Given the description of an element on the screen output the (x, y) to click on. 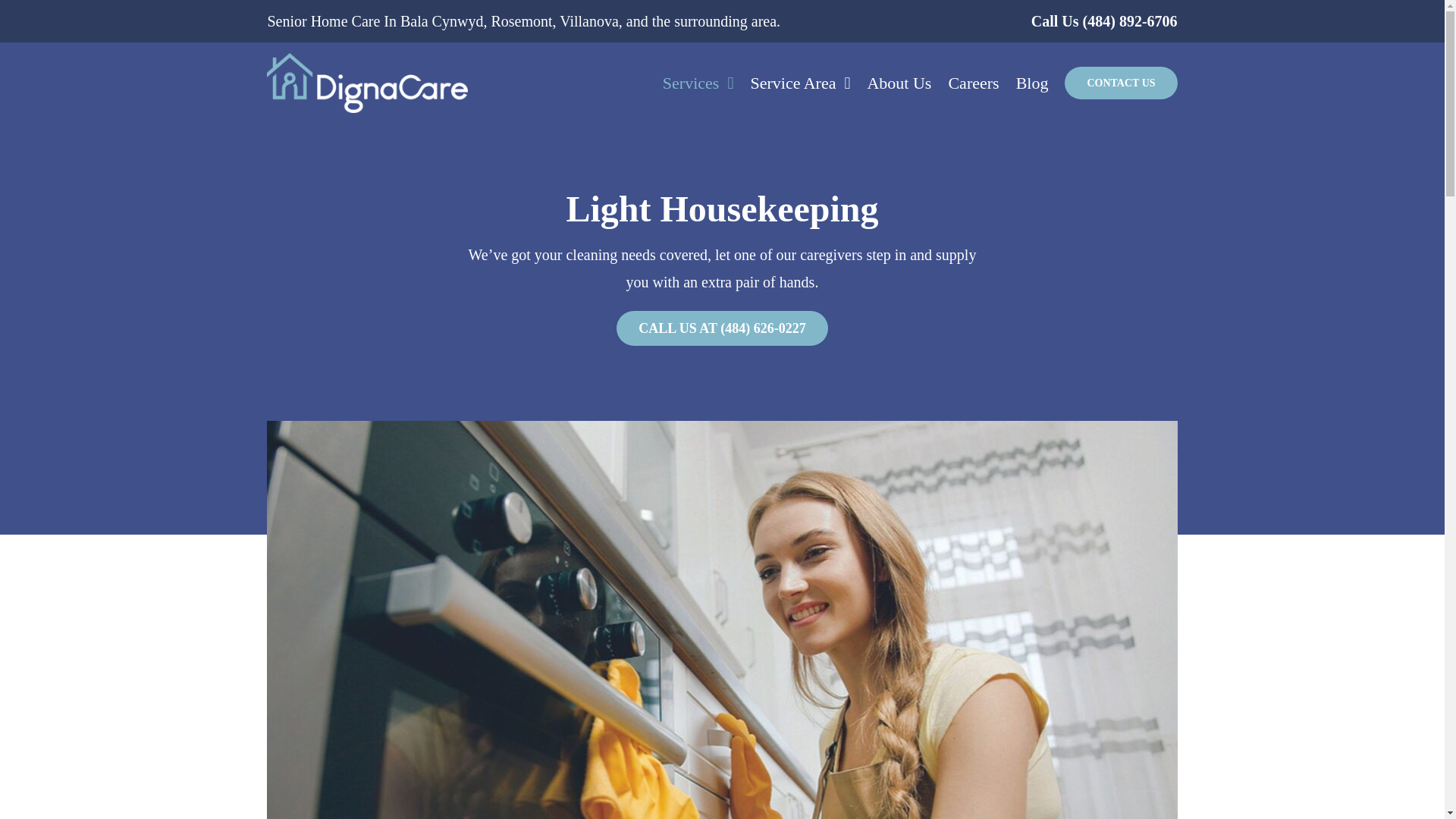
Bala Cynwyd (441, 21)
Services (697, 83)
Villanova (588, 21)
Service Area (799, 83)
Rosemont (520, 21)
